Given the description of an element on the screen output the (x, y) to click on. 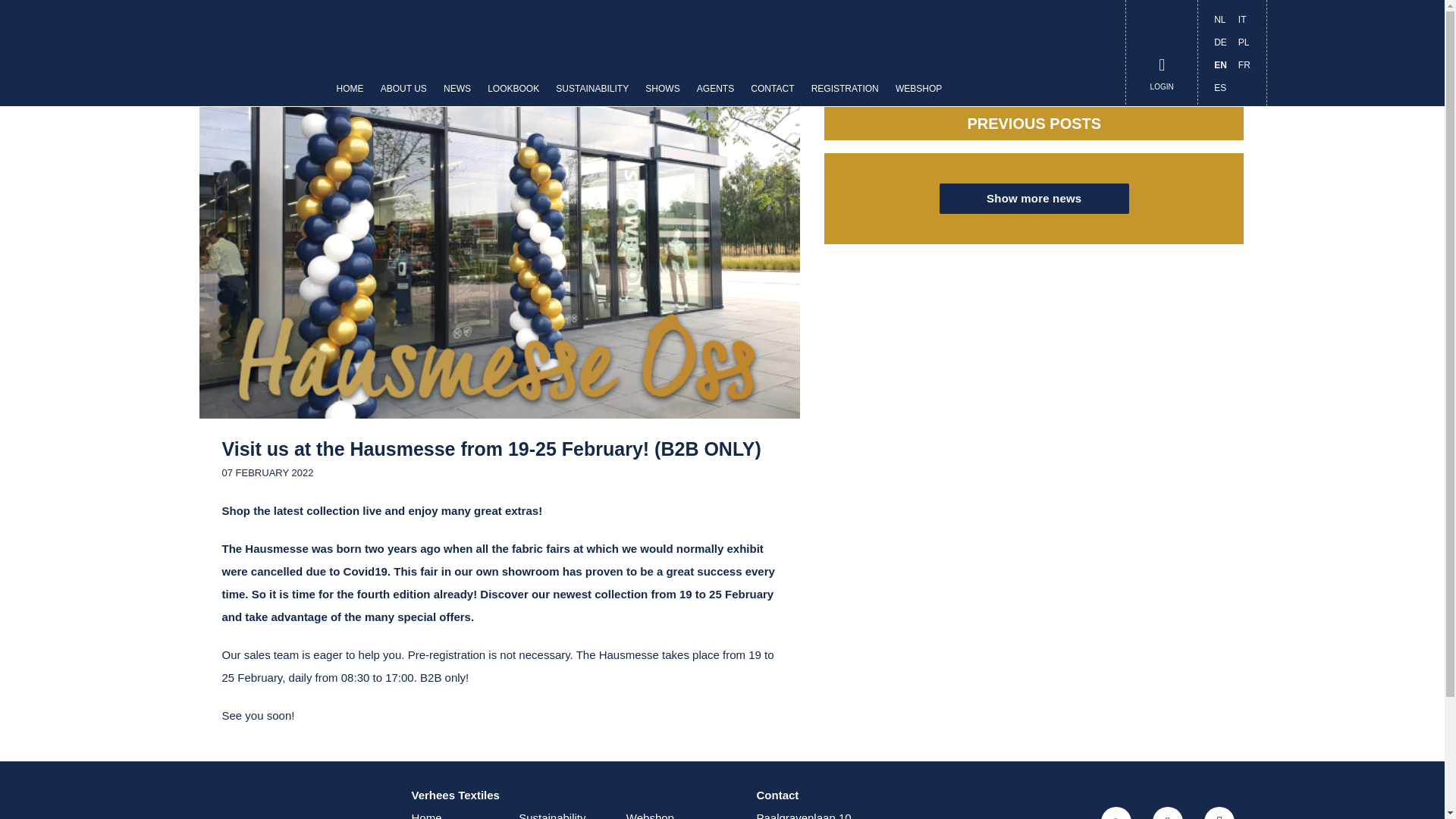
SHOWS (662, 95)
Home (247, 52)
AGENTS (715, 95)
REGISTRATION (845, 95)
WEBSHOP (918, 95)
ES (1219, 87)
CONTACT (772, 95)
NEWS (456, 95)
ABOUT US (403, 95)
Webshop (918, 95)
Agents (715, 95)
LOOKBOOK (513, 95)
About us (403, 95)
Contact (772, 95)
Verhees Textiles (247, 52)
